Given the description of an element on the screen output the (x, y) to click on. 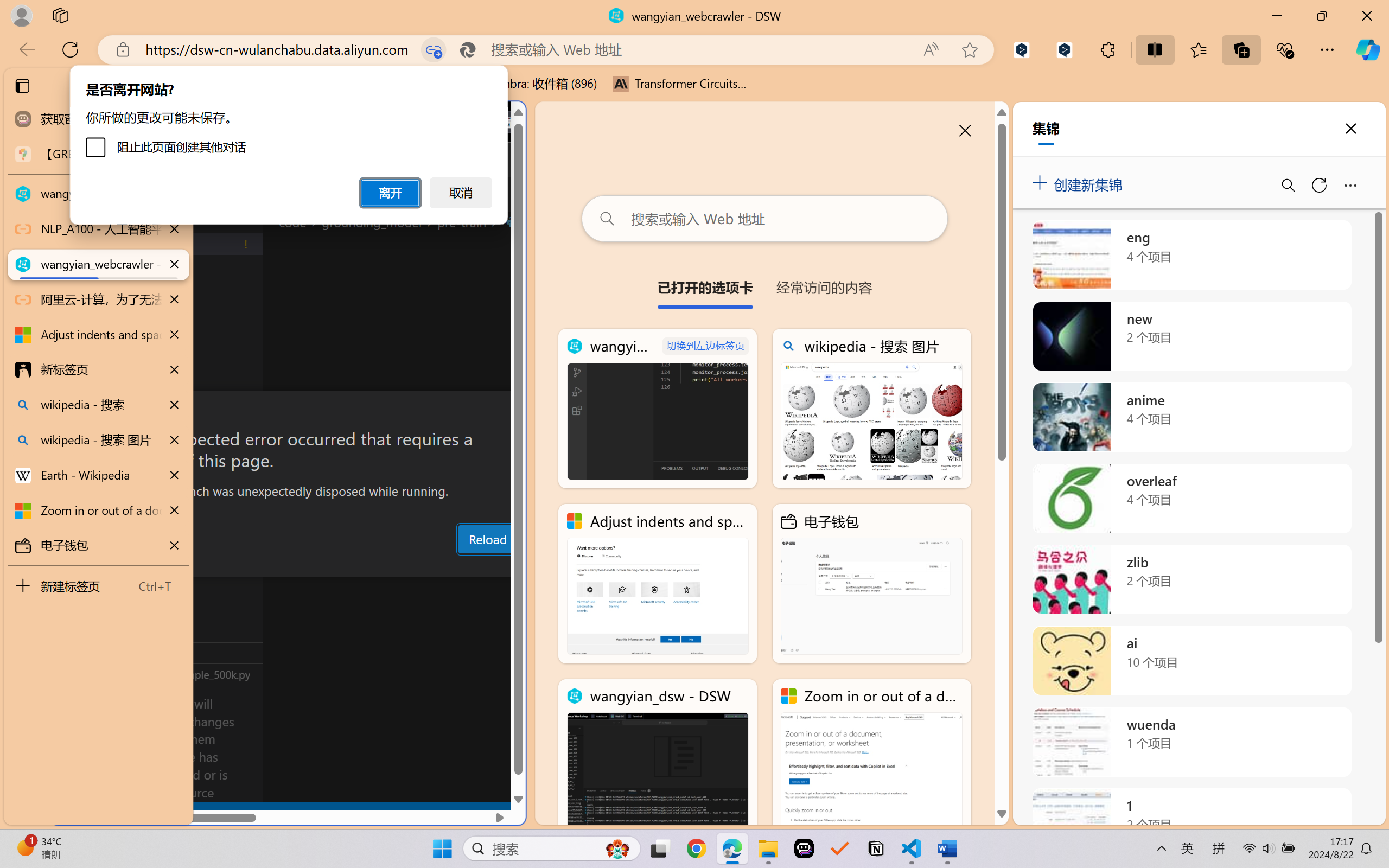
No Problems (115, 812)
Timeline Section (179, 673)
Extensions (Ctrl+Shift+X) (73, 422)
Outline Section (179, 652)
Transformer Circuits Thread (680, 83)
